Given the description of an element on the screen output the (x, y) to click on. 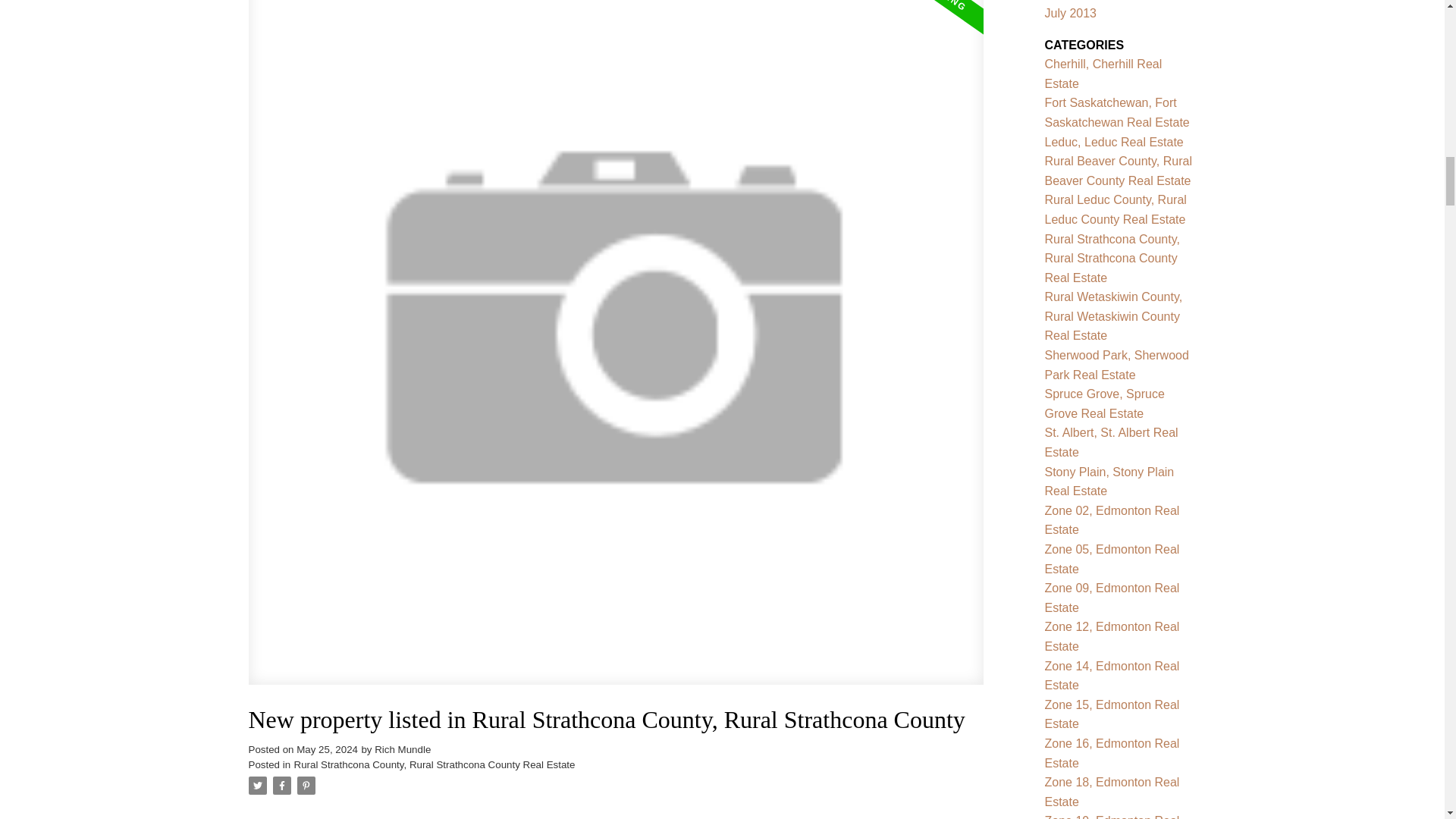
Rural Strathcona County, Rural Strathcona County Real Estate (434, 764)
